Given the description of an element on the screen output the (x, y) to click on. 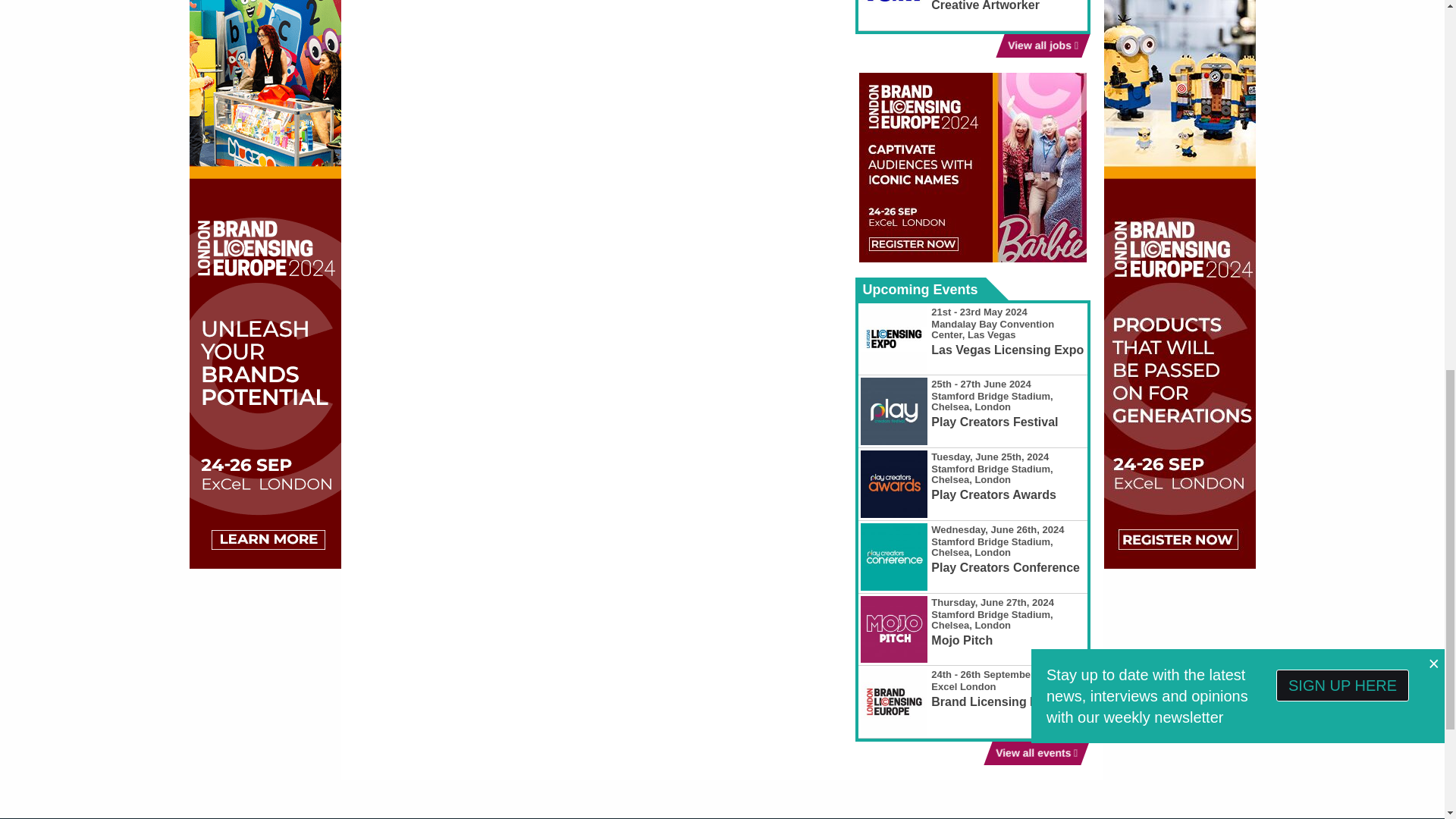
All jobs (1038, 45)
All events (1032, 753)
View all jobs (1038, 45)
